Given the description of an element on the screen output the (x, y) to click on. 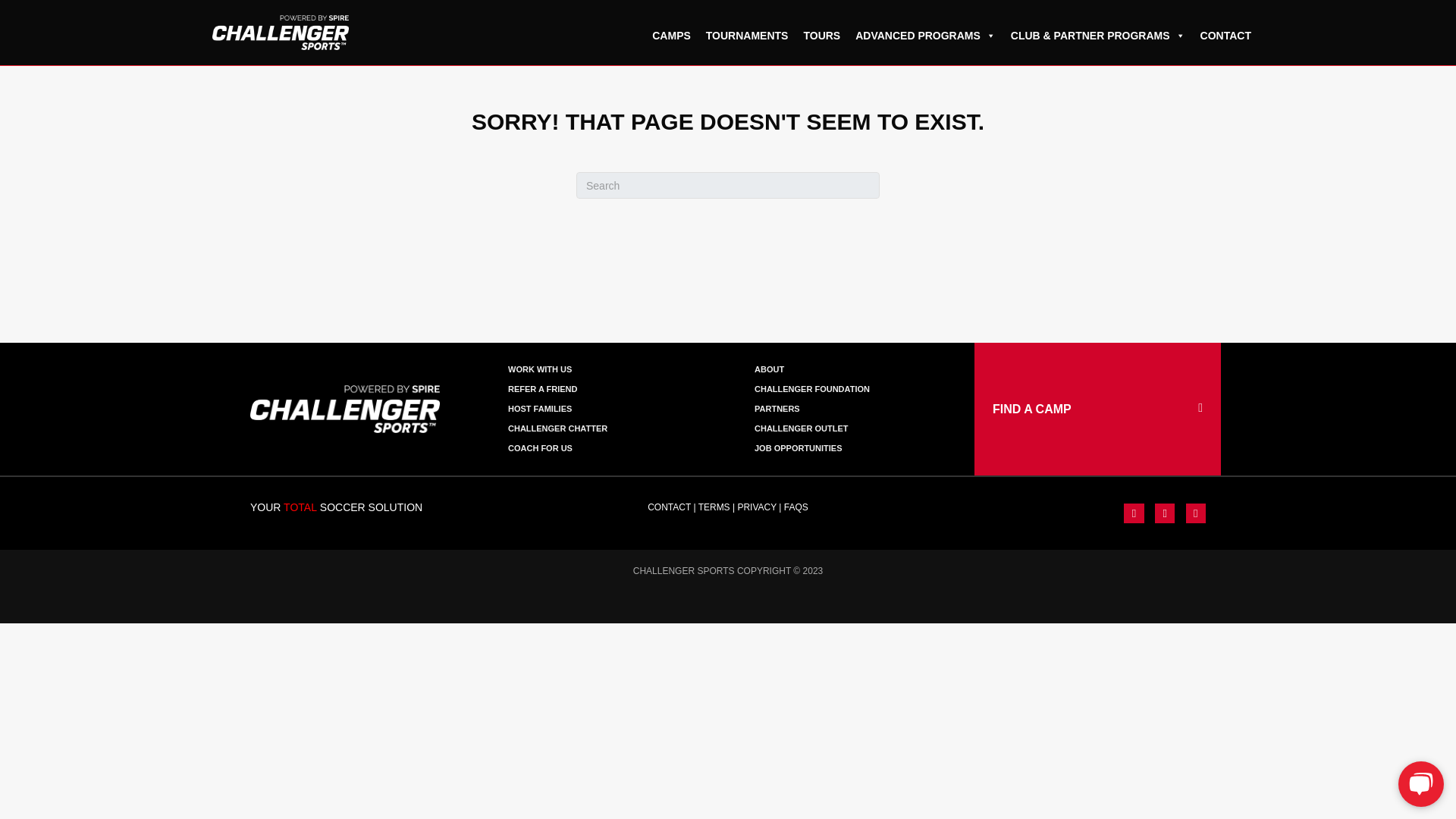
CHALLENGER OUTLET (850, 428)
TERMS (714, 507)
HOST FAMILIES (604, 408)
FAQS (796, 507)
FIND A CAMP (1097, 409)
WORK WITH US (604, 369)
ADVANCED PROGRAMS (925, 28)
Type and press Enter to search. (727, 185)
CONTACT (668, 507)
PARTNERS (850, 408)
COACH FOR US (604, 448)
CHALLENGER FOUNDATION (850, 389)
ABOUT (850, 369)
white (344, 409)
JOB OPPORTUNITIES (850, 448)
